Given the description of an element on the screen output the (x, y) to click on. 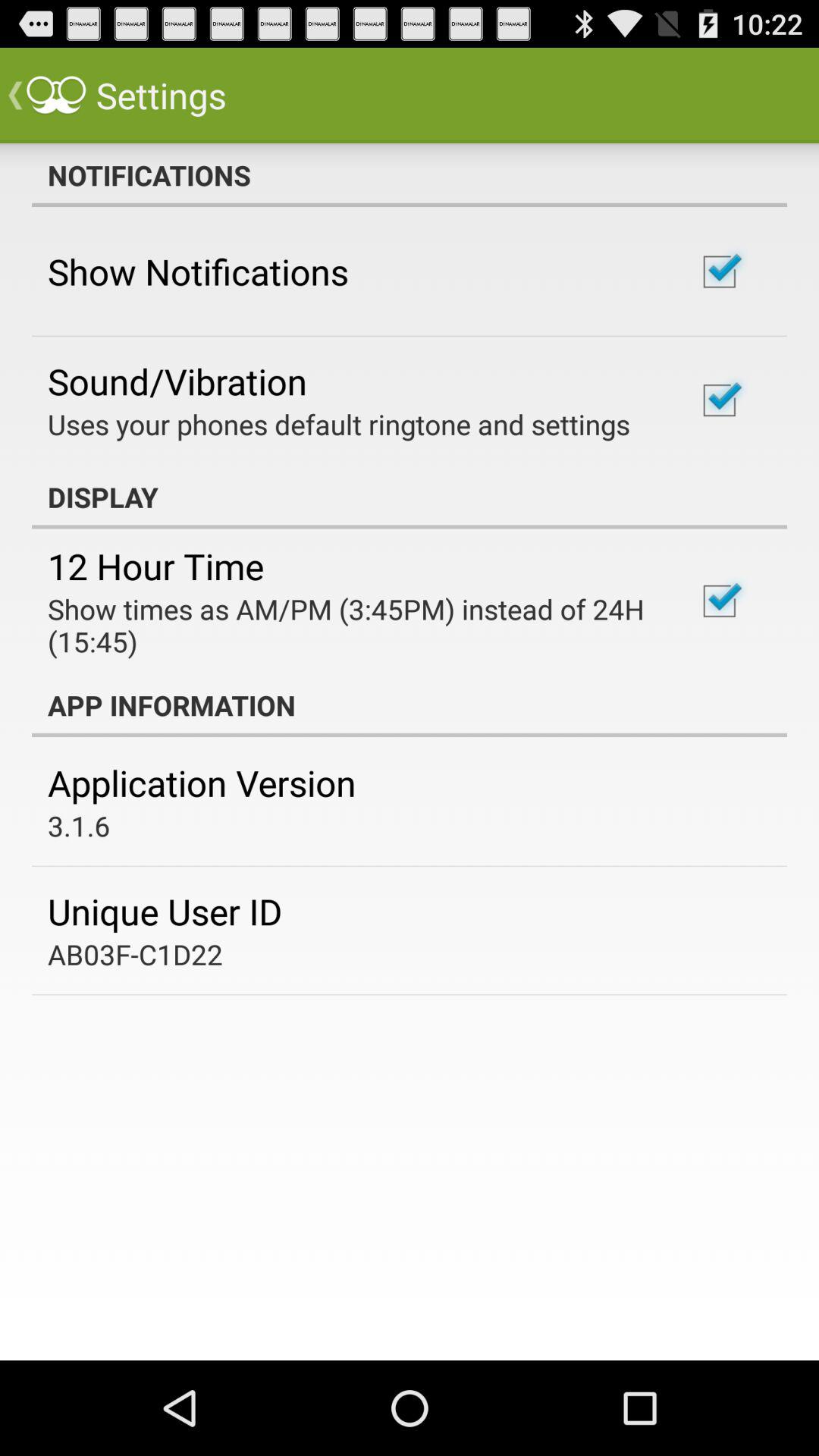
turn off app above 12 hour time icon (409, 496)
